Given the description of an element on the screen output the (x, y) to click on. 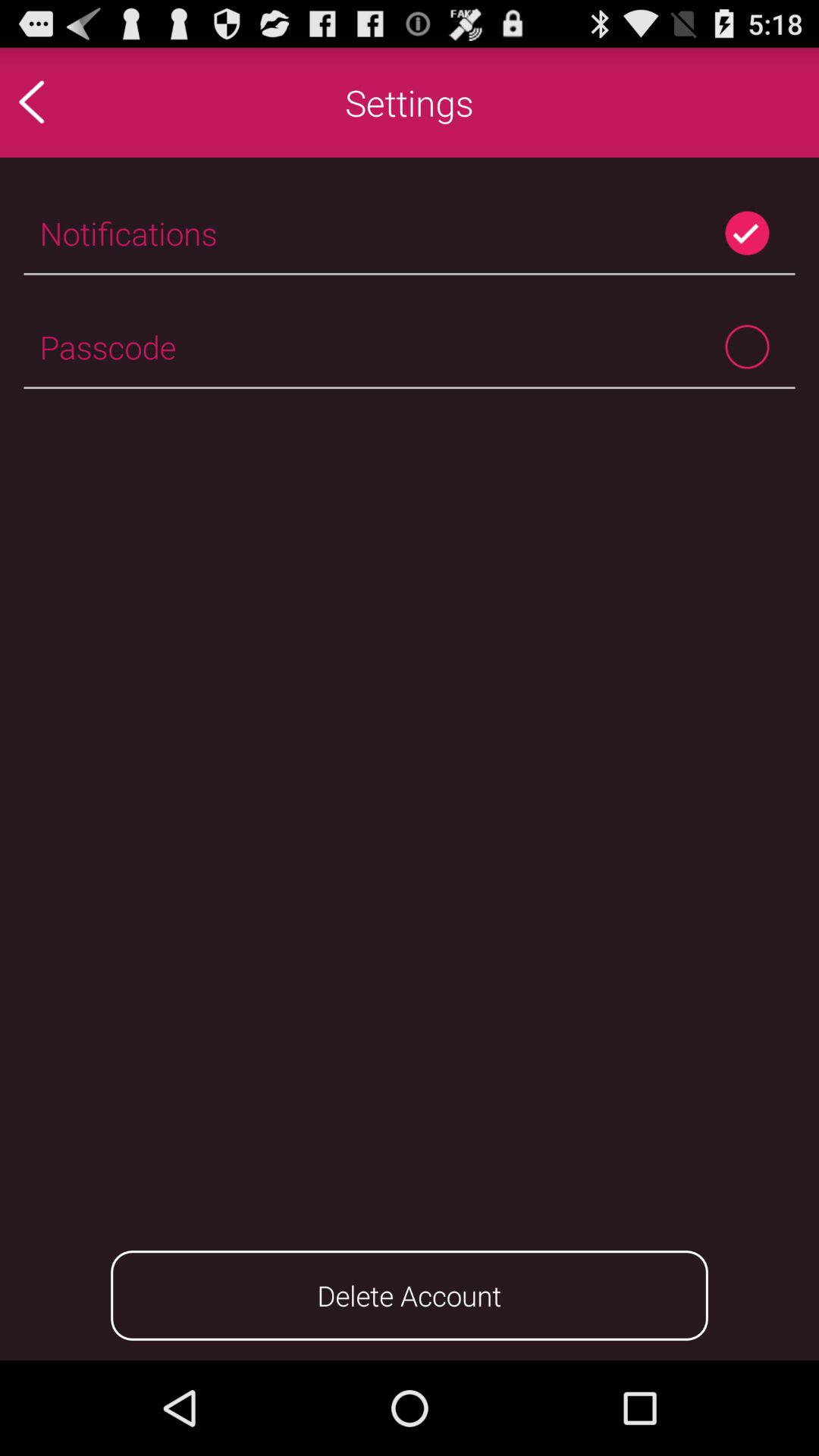
choose the item above the notifications app (63, 102)
